Given the description of an element on the screen output the (x, y) to click on. 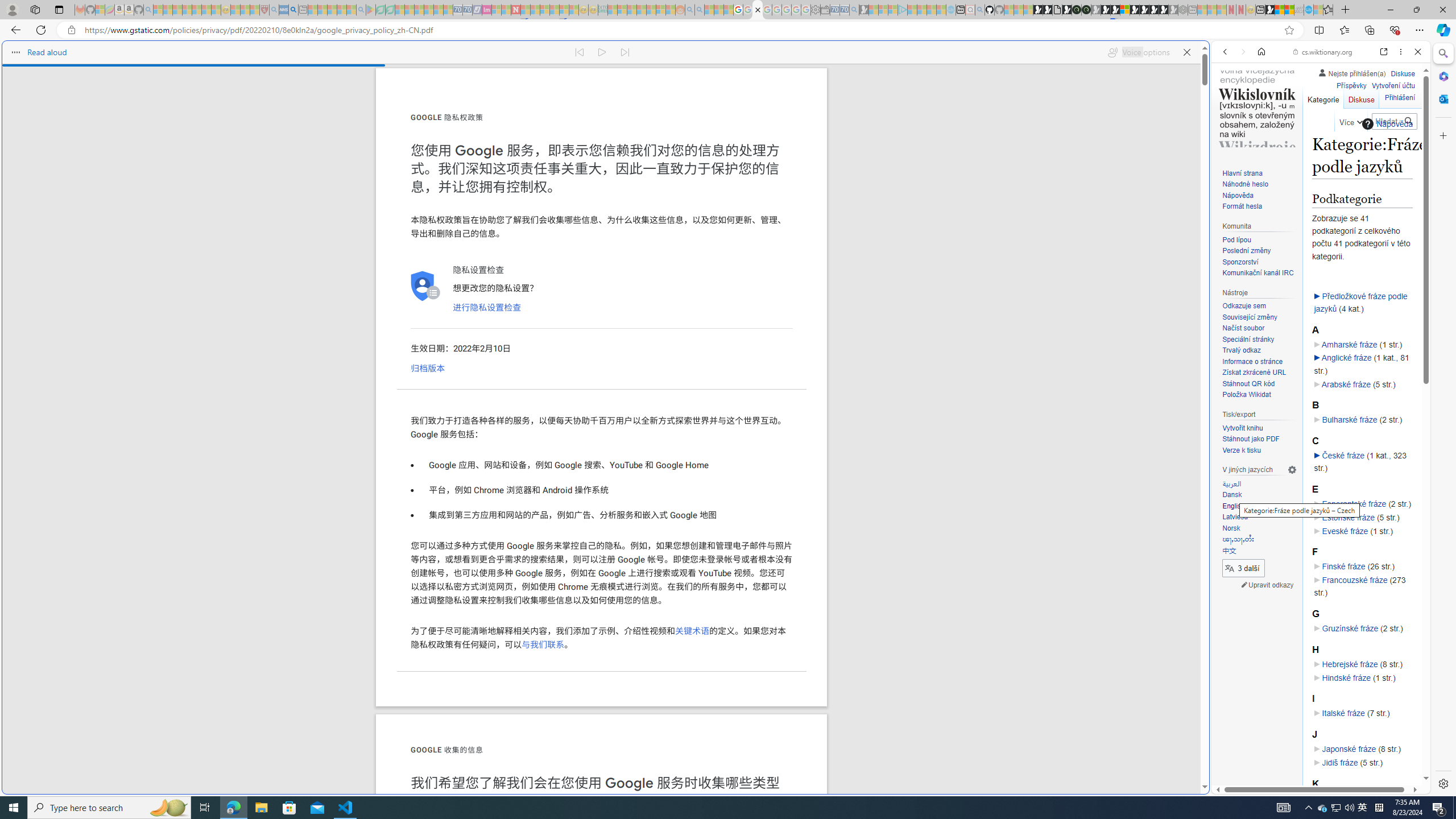
Settings - Sleeping (815, 9)
Robert H. Shmerling, MD - Harvard Health - Sleeping (263, 9)
Read next paragraph (624, 52)
